Given the description of an element on the screen output the (x, y) to click on. 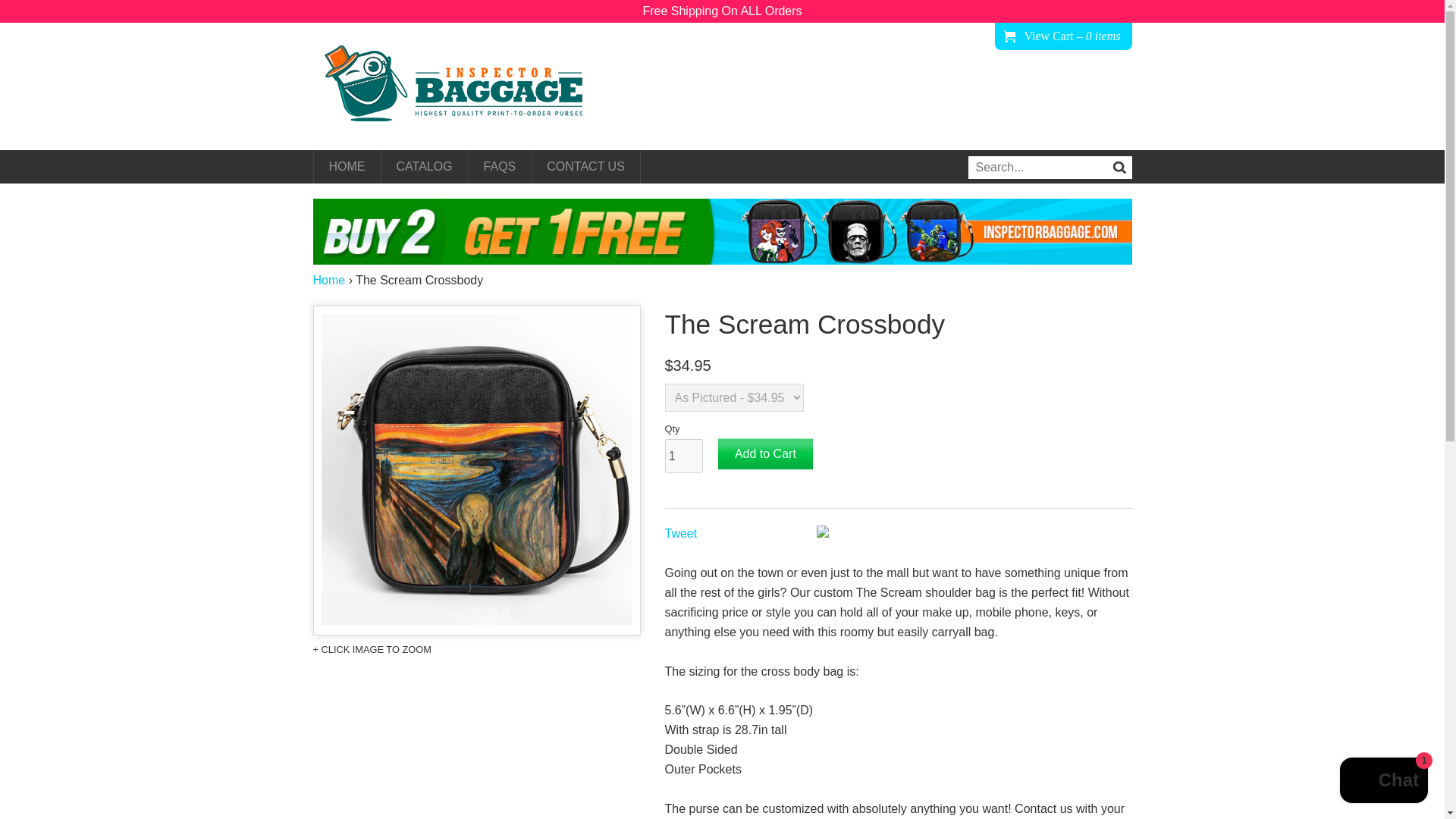
CONTACT US (585, 166)
Home (329, 279)
Back to the home page (329, 279)
InspectorBaggage (464, 86)
Shopify online store chat (1383, 781)
Add to Cart (764, 453)
HOME (347, 166)
CATALOG (423, 166)
FAQS (499, 166)
Tweet (680, 533)
1 (682, 455)
